Given the description of an element on the screen output the (x, y) to click on. 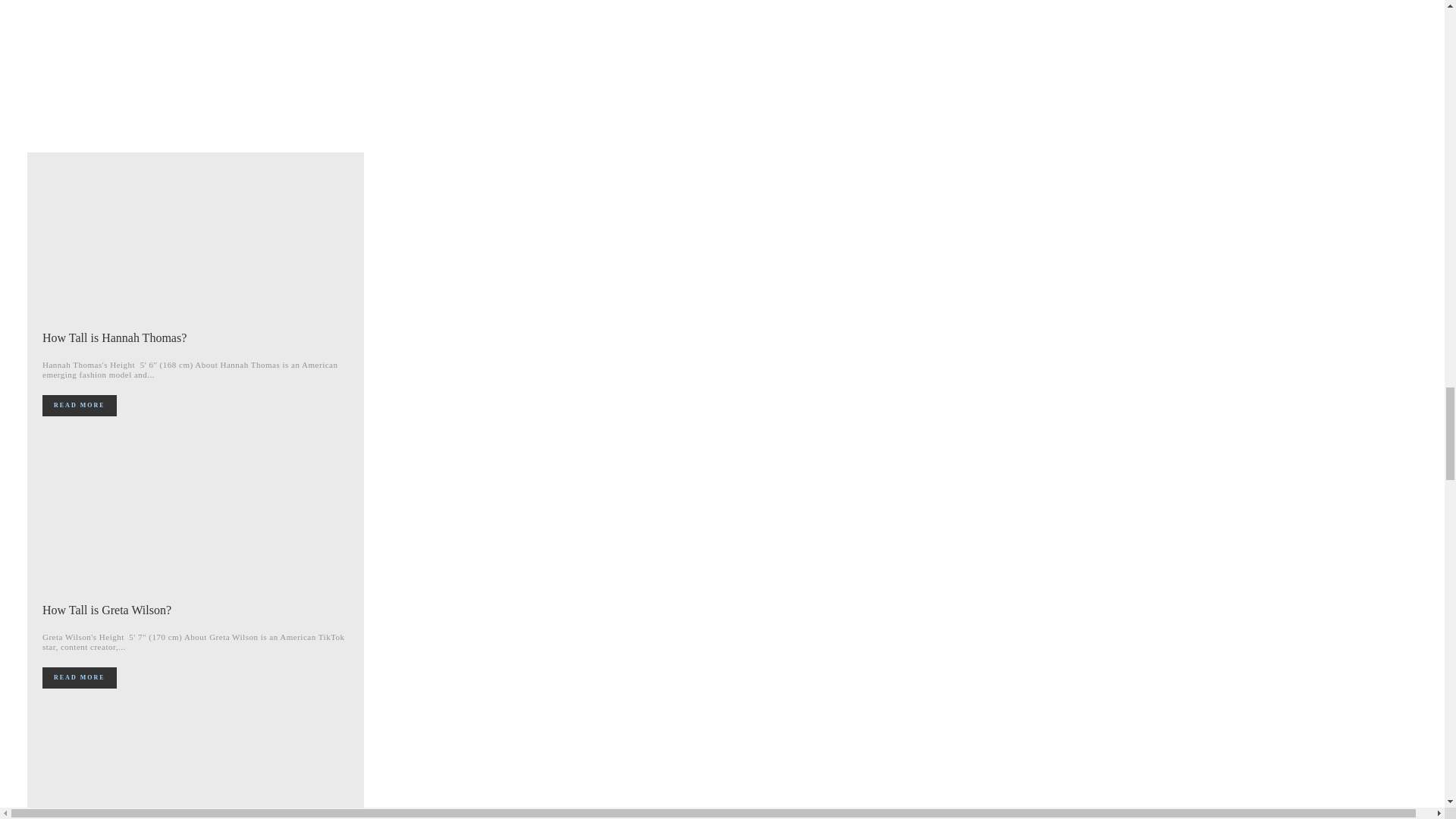
How Tall is Greta Wilson? (106, 609)
How Tall is Natalie King? (195, 765)
How Tall is Hannah Thomas? (114, 337)
How Tall is Hannah Thomas? (195, 244)
Read more (79, 677)
Read more (79, 405)
How Tall is Greta Wilson? (195, 515)
